Given the description of an element on the screen output the (x, y) to click on. 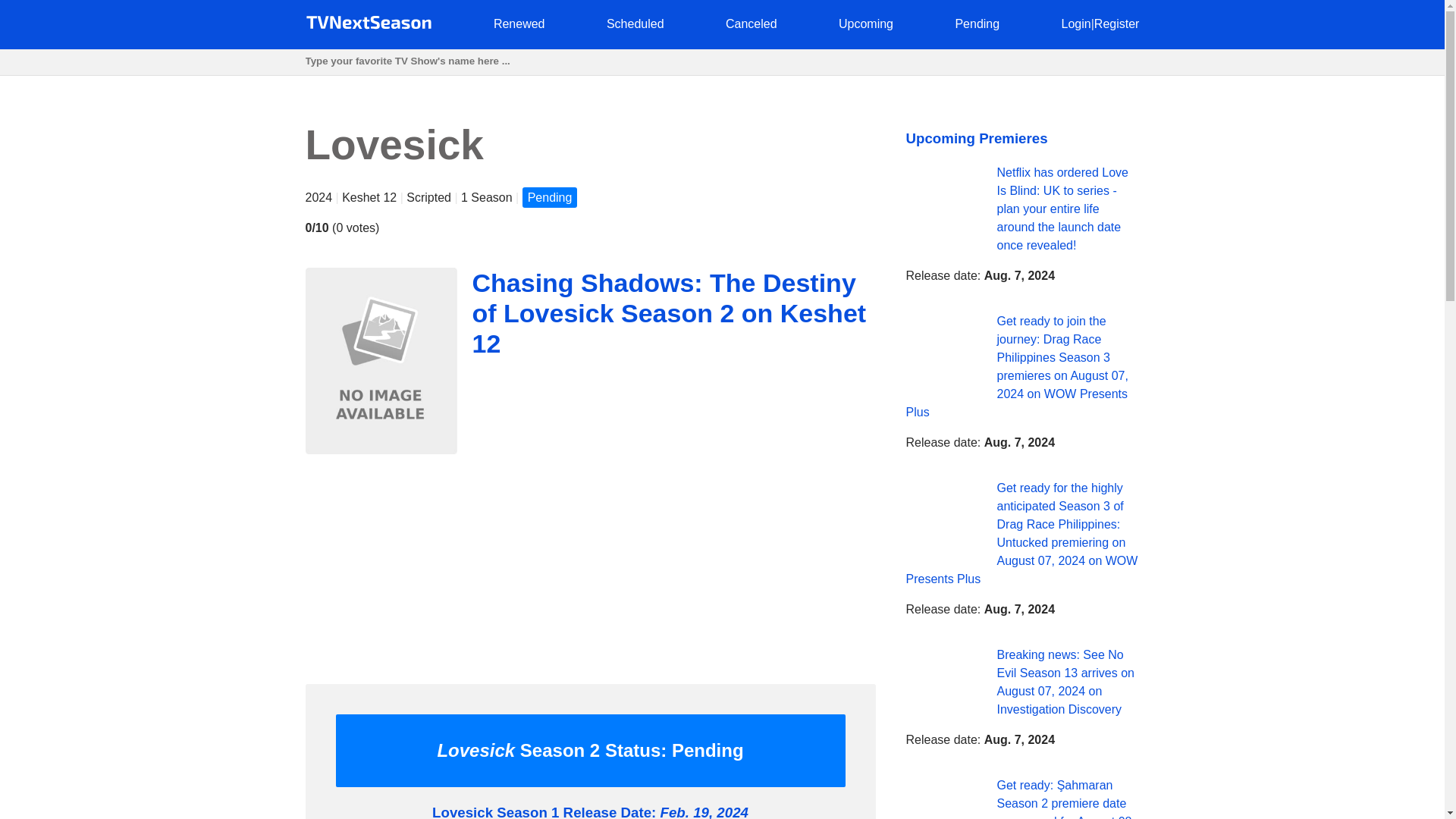
Canceled (751, 23)
Pending (976, 23)
Renewed (518, 23)
Upcoming (865, 23)
Login (1075, 23)
Register (1117, 23)
Scheduled (635, 23)
Advertisement (589, 565)
